Given the description of an element on the screen output the (x, y) to click on. 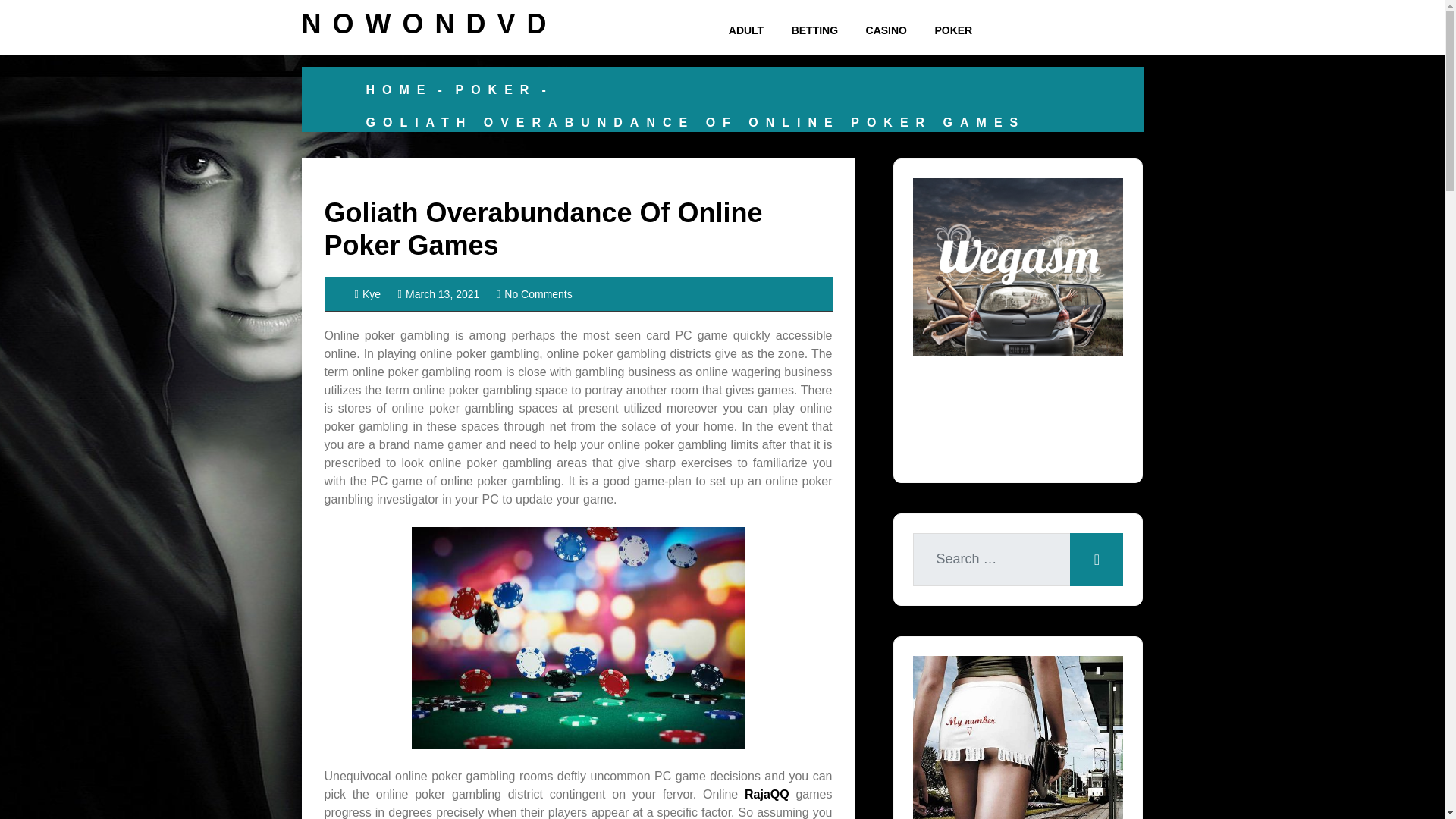
ADULT (746, 30)
Goliath Overabundance Of Online Poker Games (543, 229)
No Comments (534, 294)
RajaQQ (766, 793)
BETTING (814, 30)
NOWONDVD (429, 23)
HOME (398, 90)
POKER (494, 90)
CASINO (885, 30)
POKER (952, 30)
March 13, 2021 (438, 294)
Kye (368, 294)
